Given the description of an element on the screen output the (x, y) to click on. 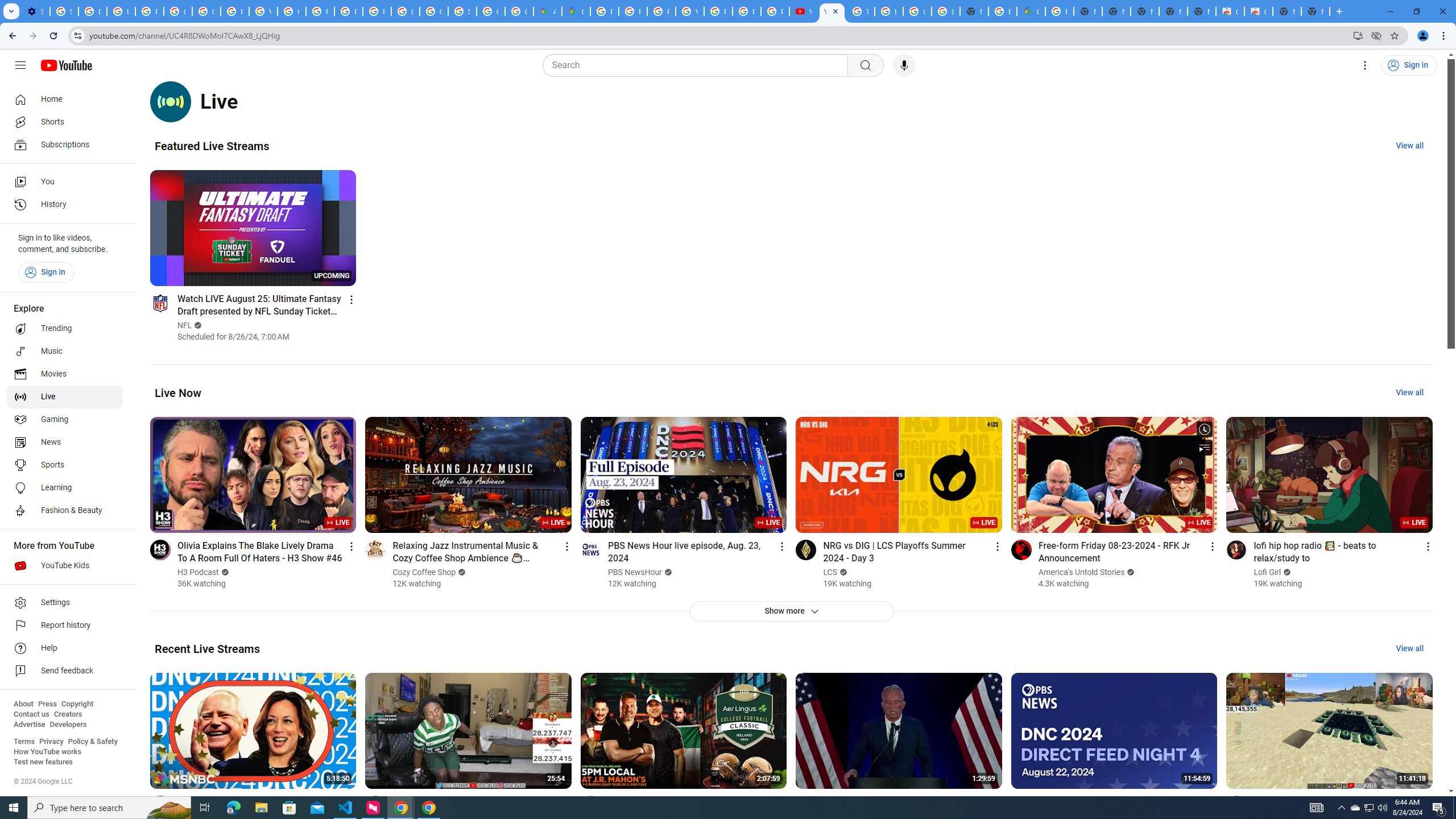
How YouTube works (47, 751)
About (23, 703)
New Tab (973, 11)
